Given the description of an element on the screen output the (x, y) to click on. 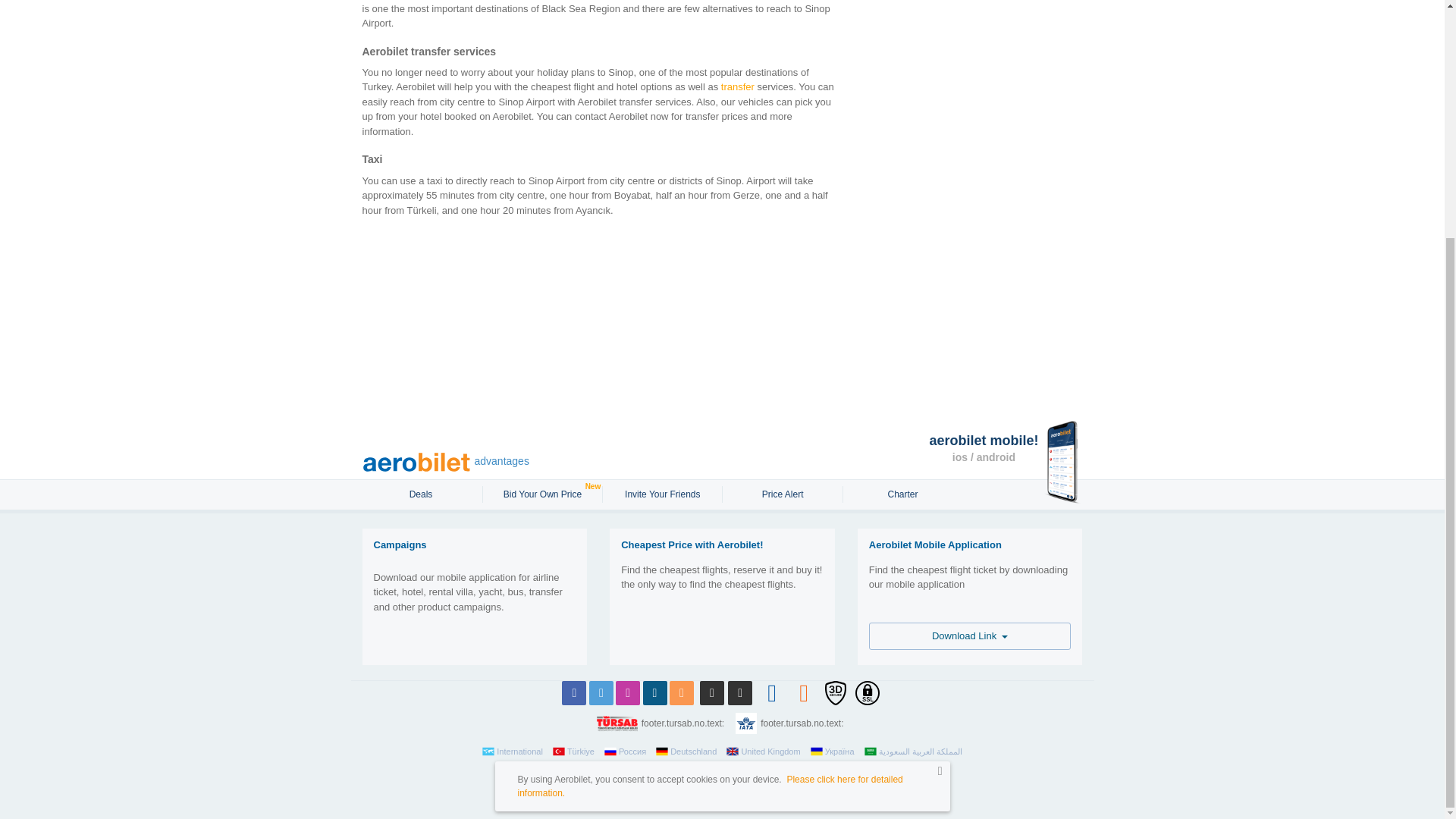
iPhone app (711, 692)
Please click here for detailed information. (709, 460)
Android app (740, 692)
